Given the description of an element on the screen output the (x, y) to click on. 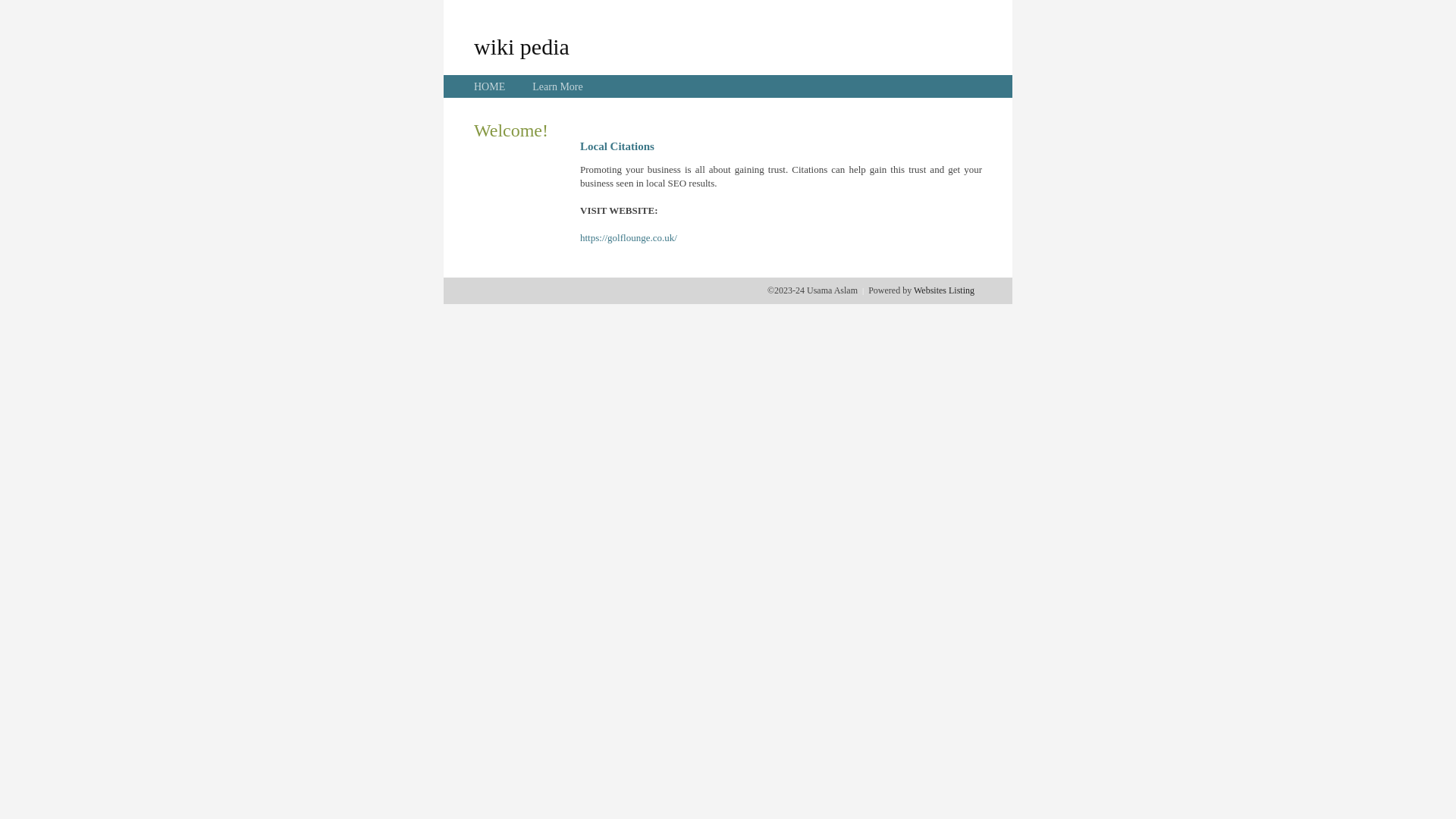
Learn More Element type: text (557, 86)
Websites Listing Element type: text (943, 290)
wiki pedia Element type: text (521, 46)
https://golflounge.co.uk/ Element type: text (628, 237)
HOME Element type: text (489, 86)
